Given the description of an element on the screen output the (x, y) to click on. 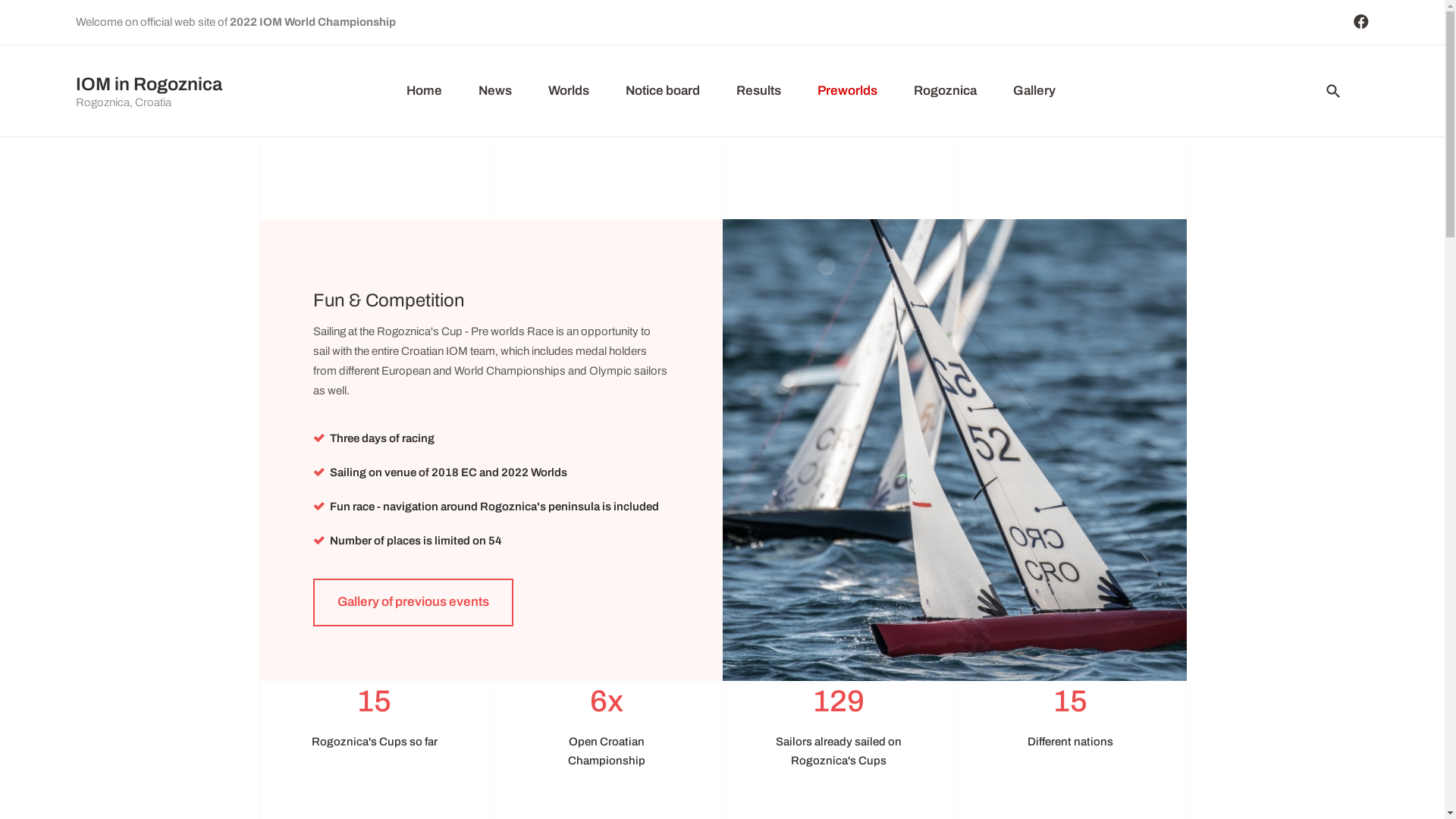
Results Element type: text (758, 90)
Home Element type: text (424, 90)
Notice board Element type: text (662, 90)
Facebook Element type: hover (1360, 21)
Preworlds Element type: text (847, 90)
Rogoznica Element type: text (944, 90)
Worlds Element type: text (568, 90)
Gallery Element type: text (1033, 90)
IOM in Rogoznica
Rogoznica, Croatia Element type: text (148, 93)
Gallery of previous events Element type: text (412, 602)
News Element type: text (495, 90)
